Given the description of an element on the screen output the (x, y) to click on. 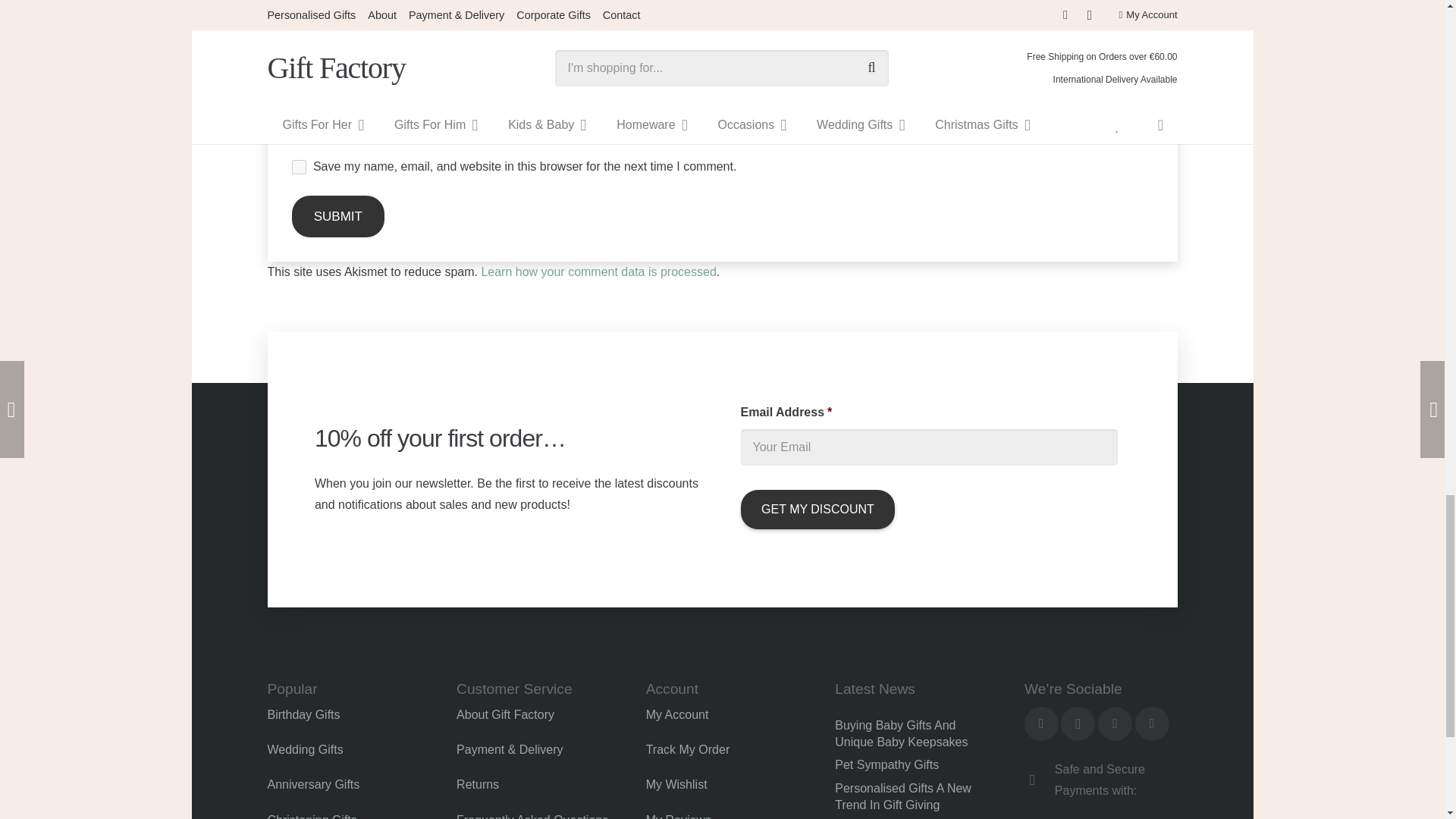
yes (298, 166)
Get My Discount (817, 509)
Submit (337, 216)
